Given the description of an element on the screen output the (x, y) to click on. 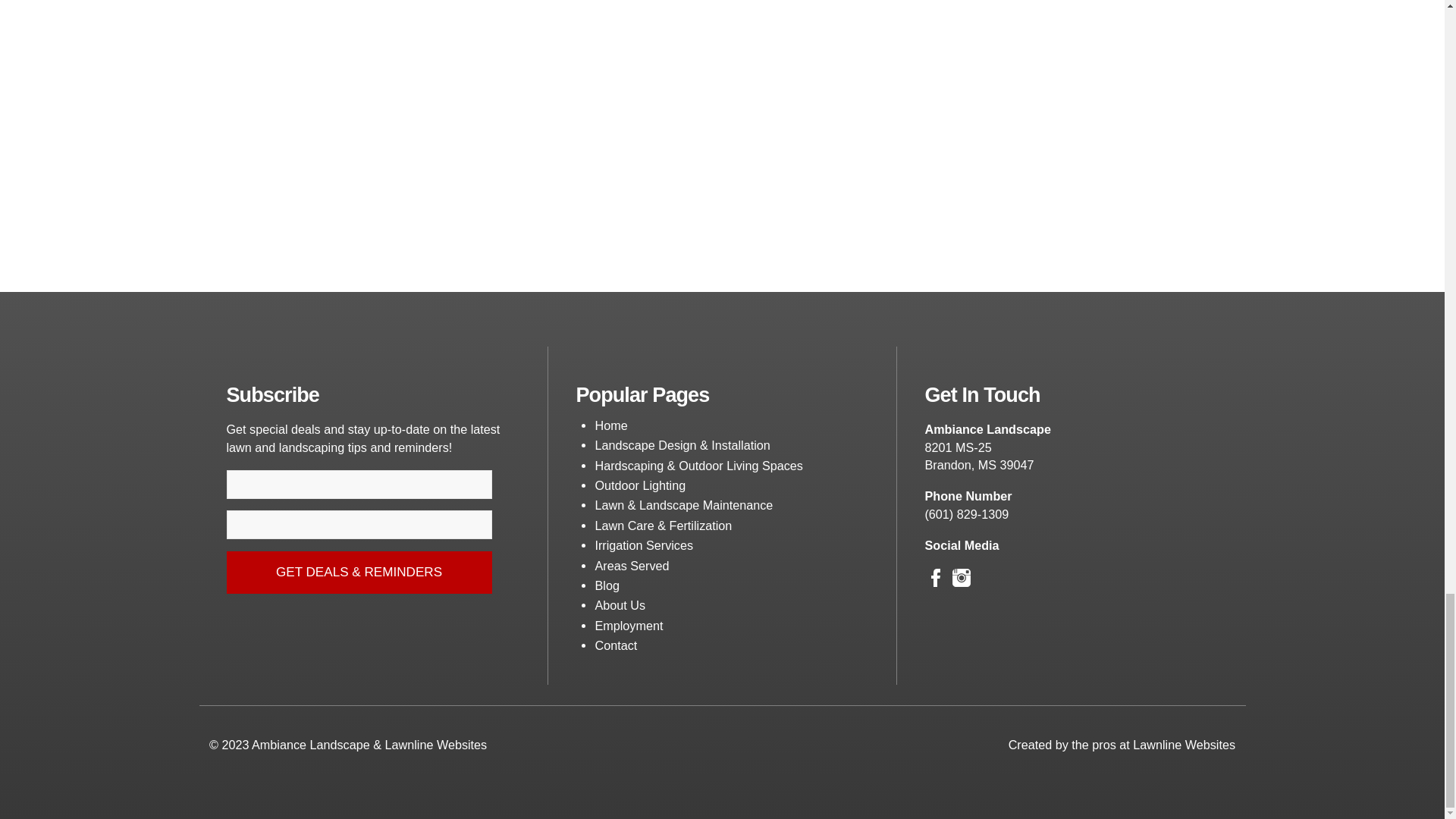
Outdoor Lighting (639, 485)
About Us (619, 604)
Areas Served (631, 565)
Home (610, 425)
Employment (628, 625)
Contact (615, 644)
Irrigation Services (643, 545)
Blog (606, 585)
